Given the description of an element on the screen output the (x, y) to click on. 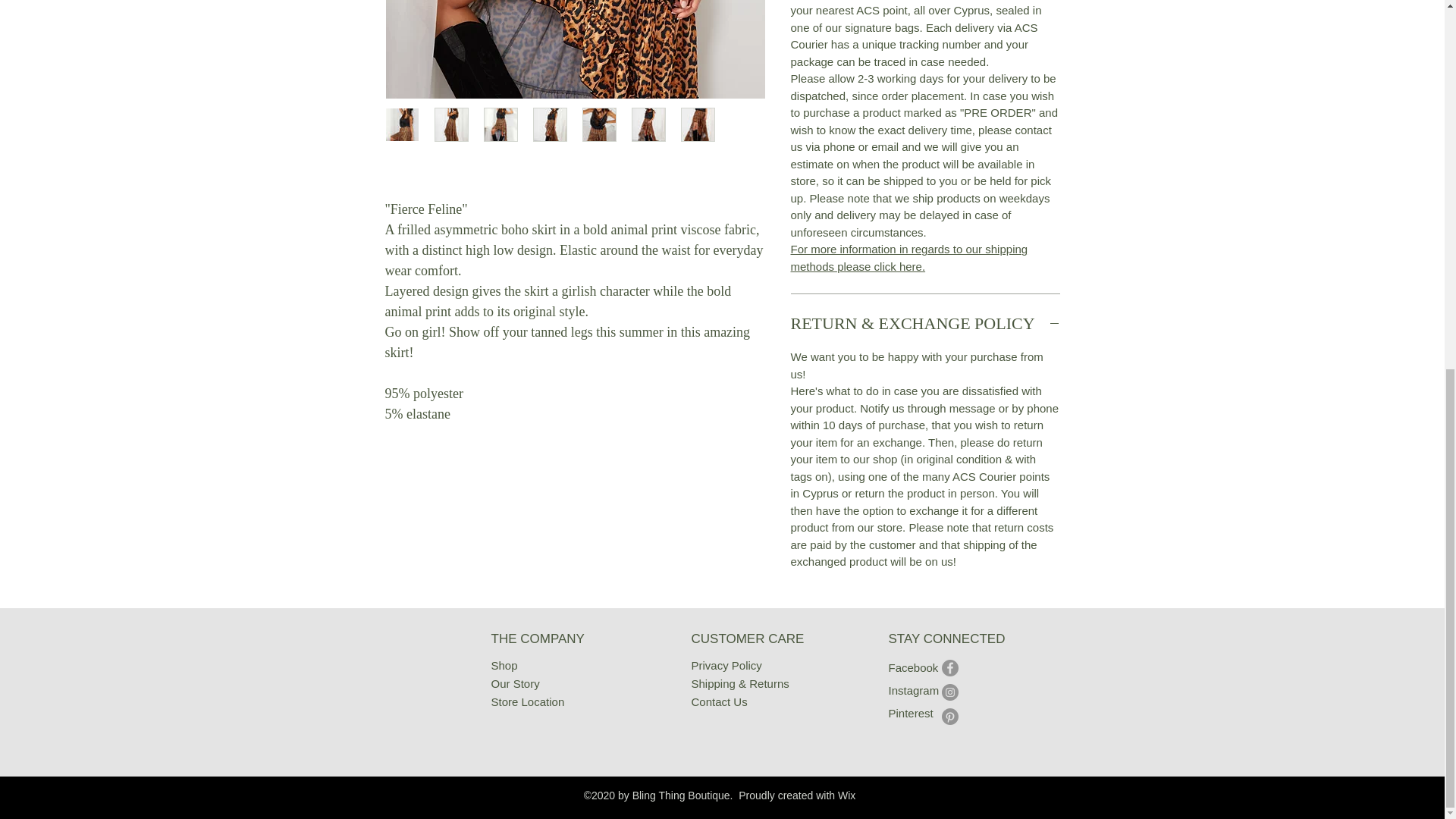
Store Location (528, 701)
Our Story (516, 683)
Shop (505, 665)
